Given the description of an element on the screen output the (x, y) to click on. 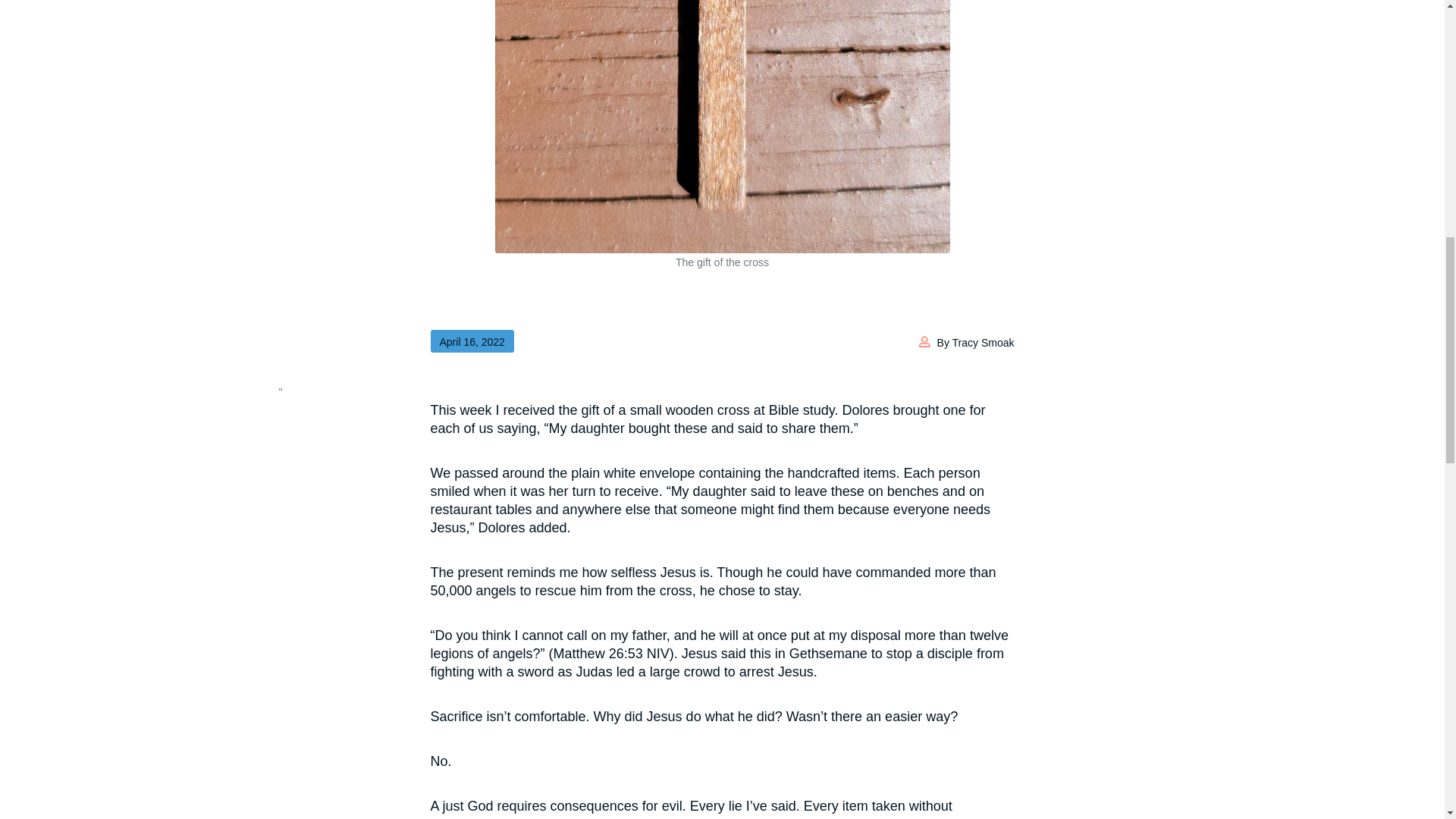
By Tracy Smoak (975, 342)
